Given the description of an element on the screen output the (x, y) to click on. 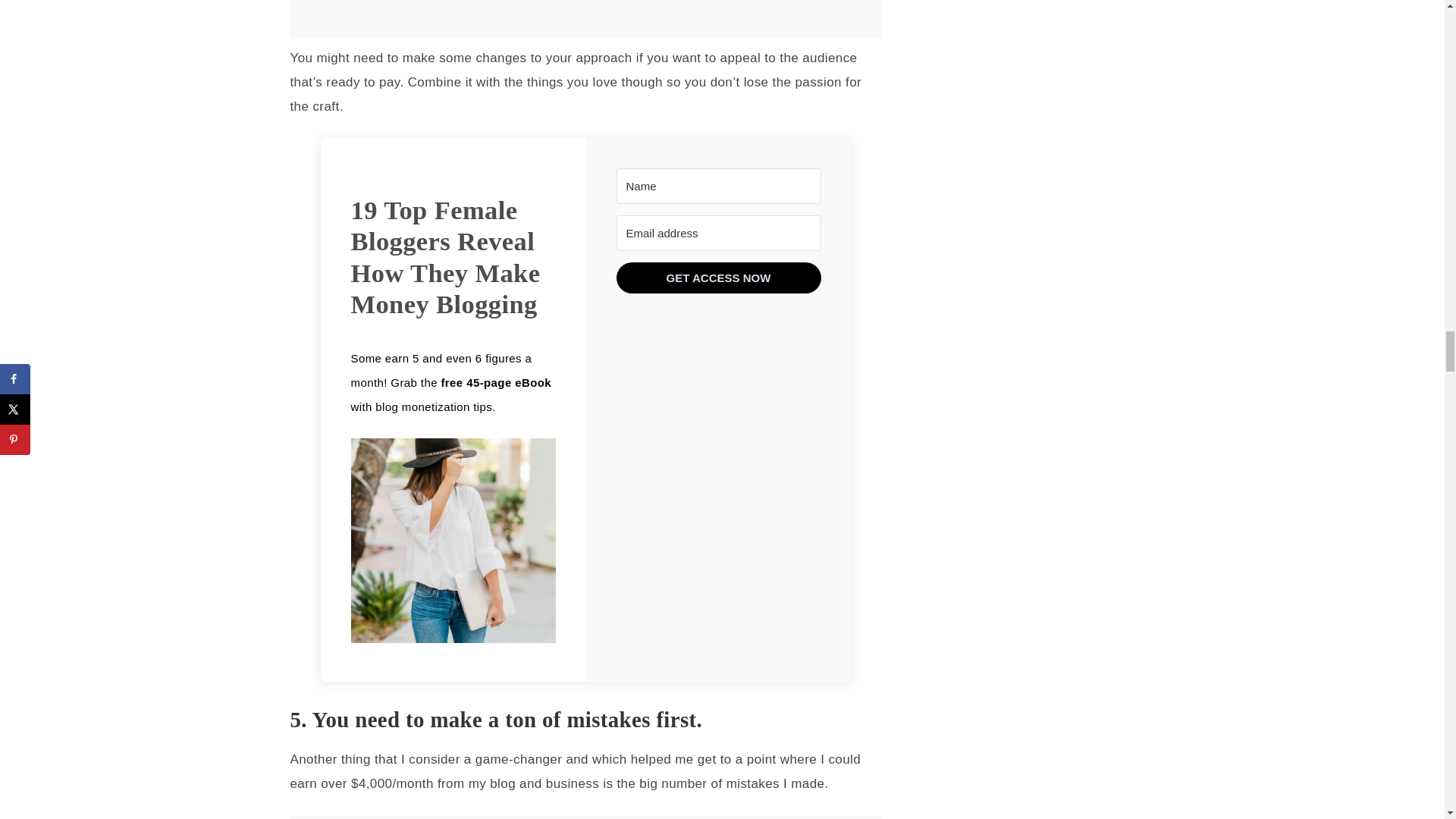
GET ACCESS NOW (718, 277)
